Given the description of an element on the screen output the (x, y) to click on. 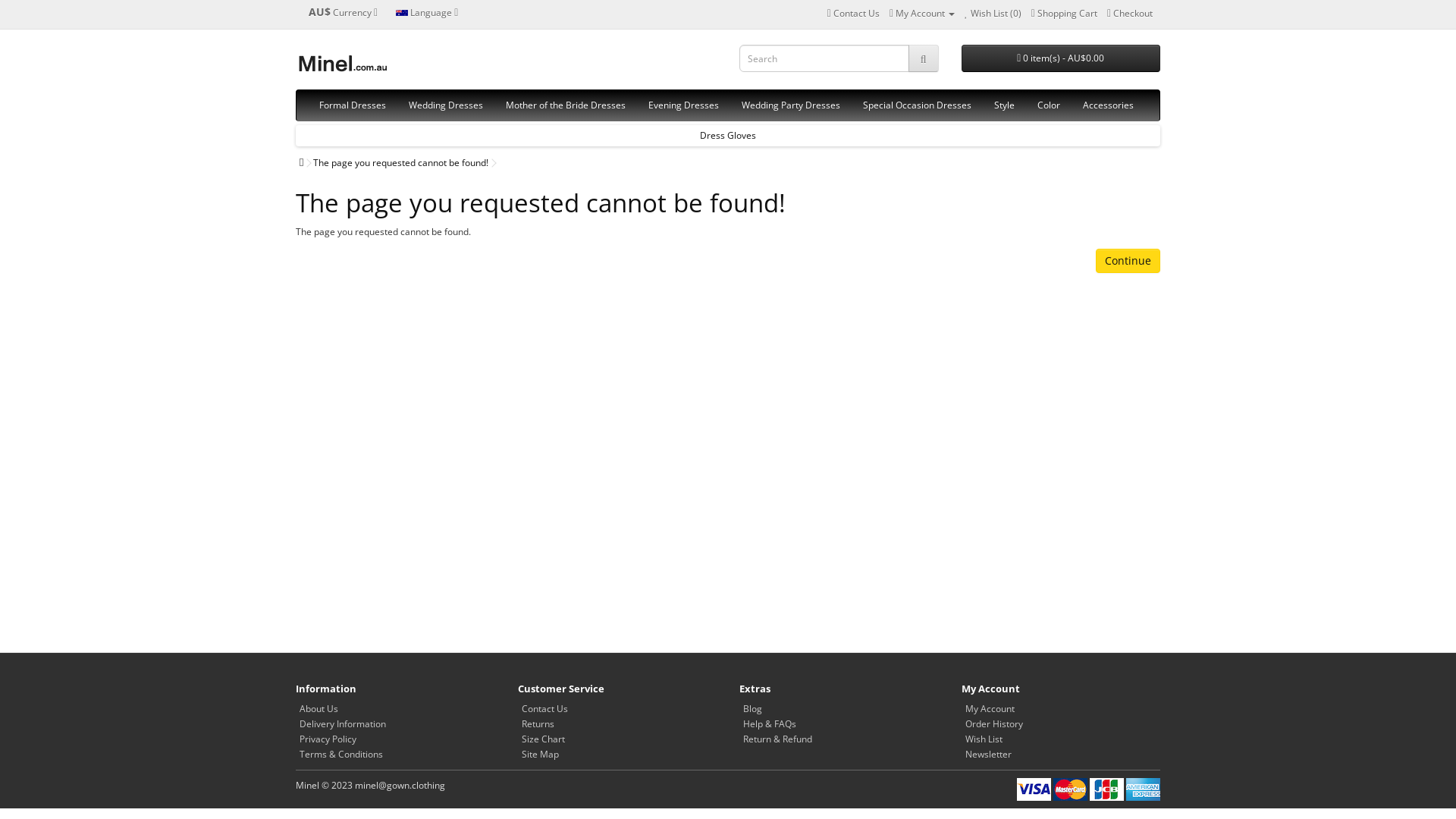
Amex Element type: hover (1143, 789)
My Account Element type: text (920, 12)
English Element type: hover (401, 13)
Mother of the Bride Dresses Element type: text (565, 105)
Terms & Conditions Element type: text (340, 753)
Wish List Element type: text (982, 738)
Newsletter Element type: text (987, 753)
Evening Dresses Element type: text (683, 105)
Continue Element type: text (1127, 260)
Contact Us Element type: text (544, 708)
The page you requested cannot be found! Element type: text (400, 162)
Blog Element type: text (752, 708)
About Us Element type: text (318, 708)
Wedding Party Dresses Element type: text (790, 105)
Bouquet Element type: text (727, 134)
Delivery Information Element type: text (342, 723)
JCB Element type: hover (1106, 789)
Language  Element type: text (426, 12)
Visa Element type: hover (1033, 789)
Shopping Cart Element type: text (1064, 12)
0 item(s) - AU$0.00 Element type: text (1061, 58)
AU$ Currency  Element type: text (342, 12)
Minel Element type: hover (341, 62)
Checkout Element type: text (1129, 12)
Privacy Policy Element type: text (327, 738)
Accessories Element type: text (1108, 105)
Return & Refund Element type: text (777, 738)
Wedding Dresses Element type: text (445, 105)
Order History Element type: text (993, 723)
My Account Element type: text (988, 708)
Contact Us Element type: text (852, 12)
Site Map Element type: text (539, 753)
Special Occasion Dresses Element type: text (916, 105)
Size Chart Element type: text (542, 738)
Returns Element type: text (537, 723)
Style Element type: text (1004, 105)
Master Card Element type: hover (1070, 789)
Wish List (0) Element type: text (992, 12)
Color Element type: text (1048, 105)
Help & FAQs Element type: text (769, 723)
Formal Dresses Element type: text (352, 105)
